Given the description of an element on the screen output the (x, y) to click on. 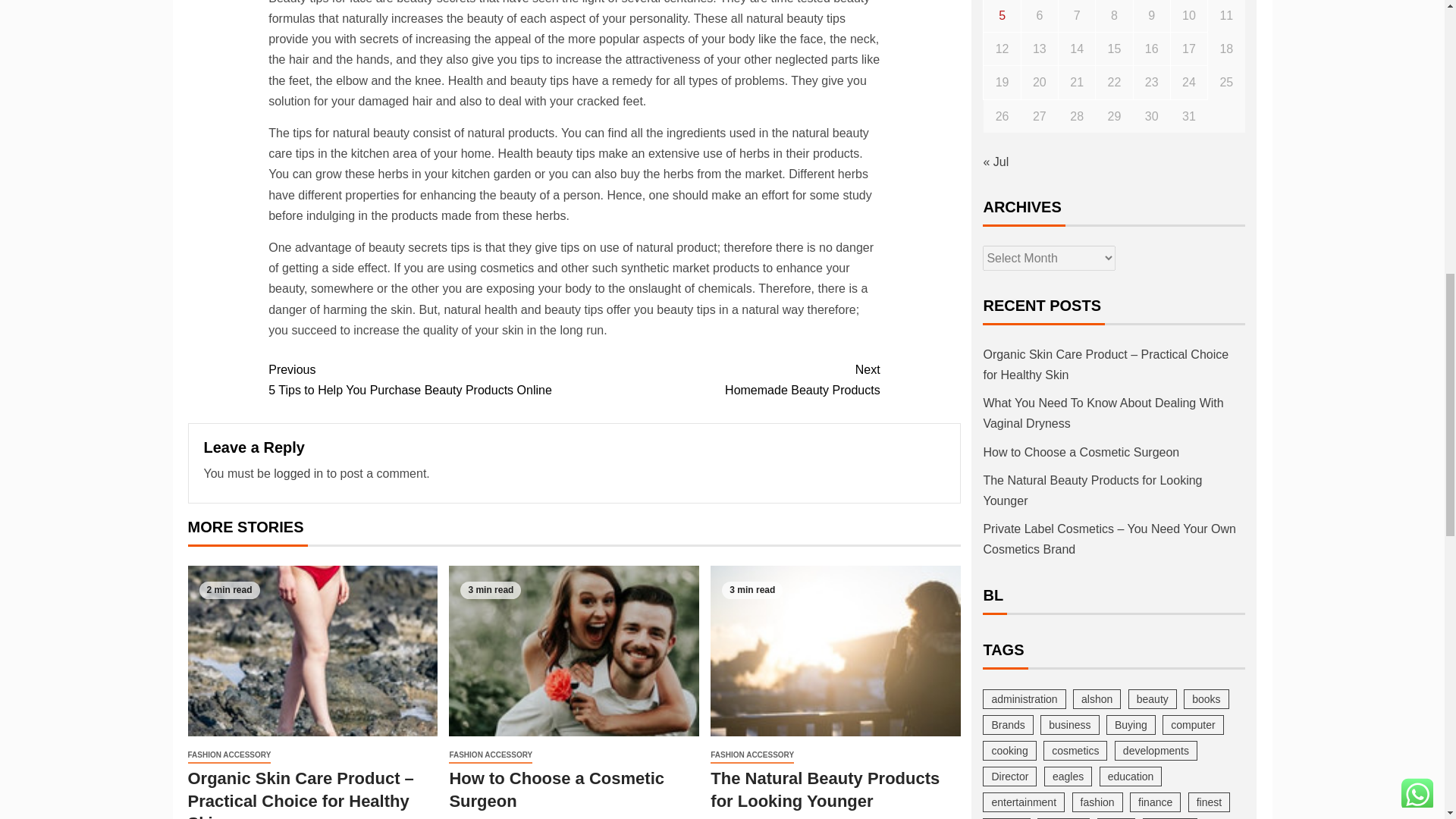
logged in (298, 472)
FASHION ACCESSORY (420, 379)
How to Choose a Cosmetic Surgeon (726, 379)
